Given the description of an element on the screen output the (x, y) to click on. 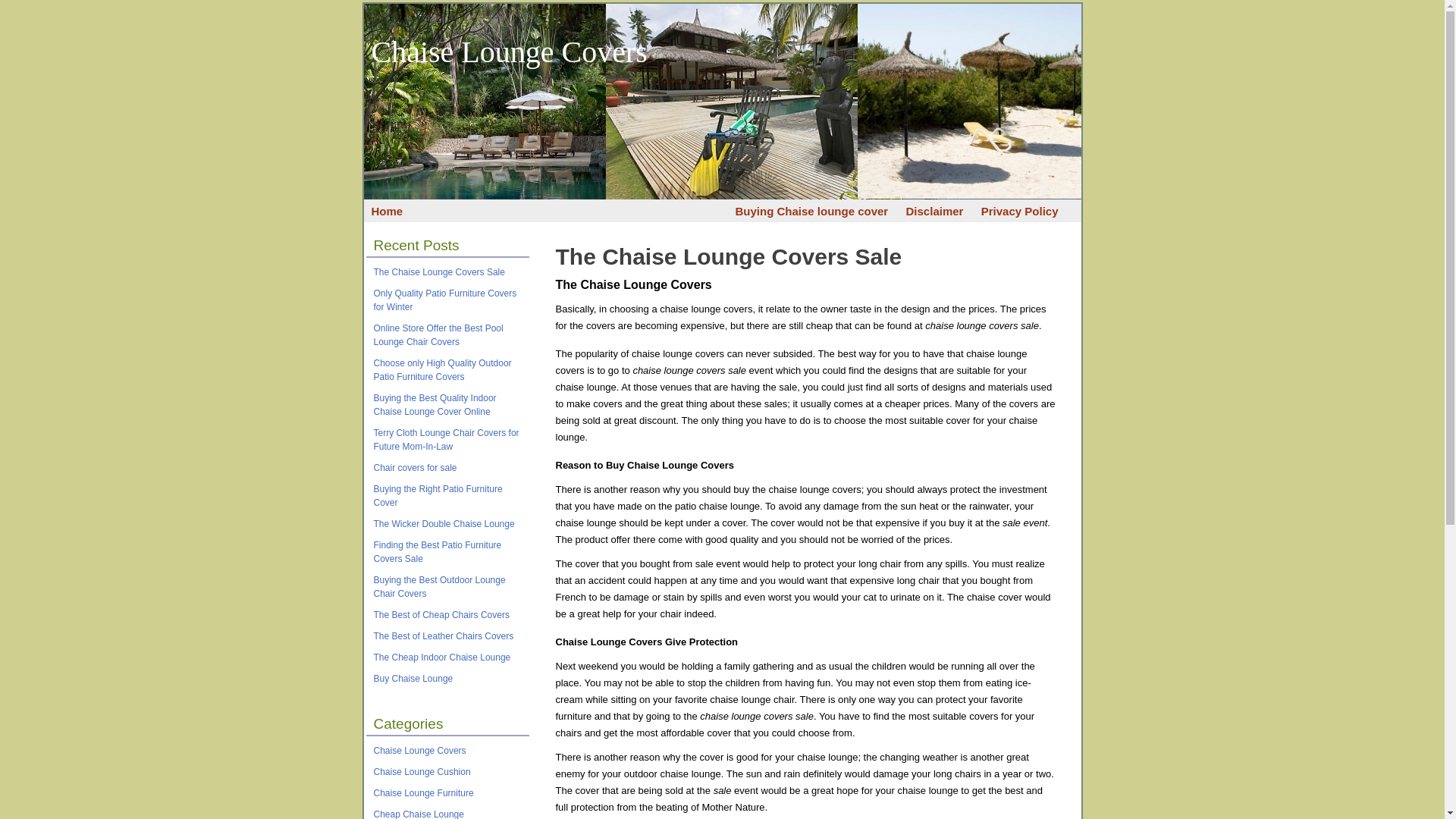
Home (387, 210)
Privacy Policy (1019, 210)
Disclaimer (934, 210)
Chaise Lounge Covers (418, 750)
The Chaise Lounge Covers Sale (727, 256)
Buy Chaise Lounge (412, 678)
Only Quality Patio Furniture Covers for Winter (444, 300)
The Wicker Double Chaise Lounge (442, 523)
The Cheap Indoor Chaise Lounge (441, 656)
The Chaise Lounge Covers Sale (727, 256)
